Given the description of an element on the screen output the (x, y) to click on. 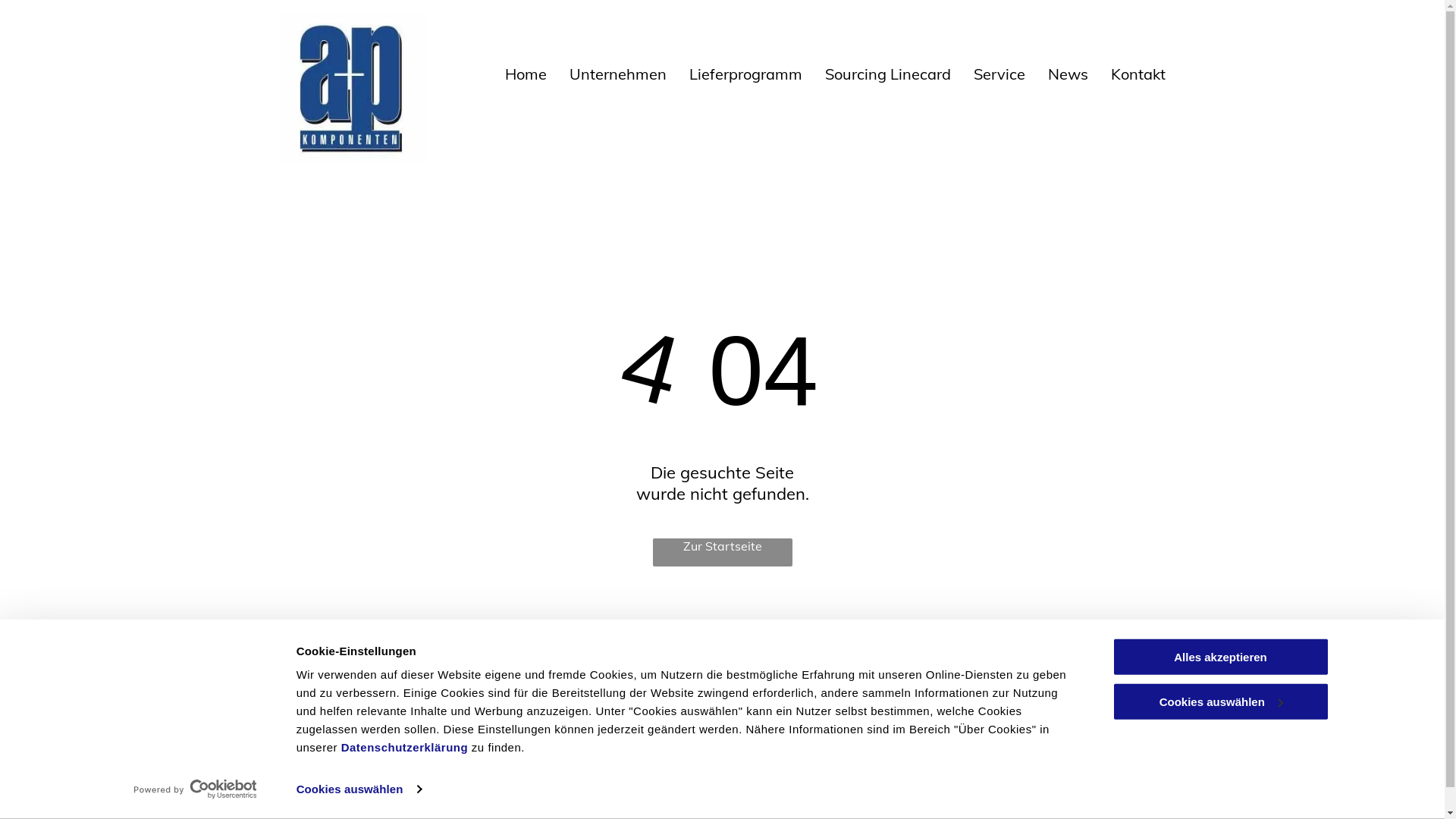
Alles akzeptieren Element type: text (1219, 656)
Service Element type: text (987, 73)
Kontakt Element type: text (1126, 73)
Unternehmen Element type: text (606, 73)
mail@apkompo.ch Element type: text (555, 732)
Sourcing Linecard Element type: text (876, 73)
AGB Element type: text (745, 689)
+41 43 888 22 99 Element type: text (553, 698)
Impressum Element type: text (982, 704)
Zur Startseite Element type: text (721, 552)
Home Element type: text (514, 73)
Lieferprogramm Element type: text (734, 73)
News Element type: text (1056, 73)
